Given the description of an element on the screen output the (x, y) to click on. 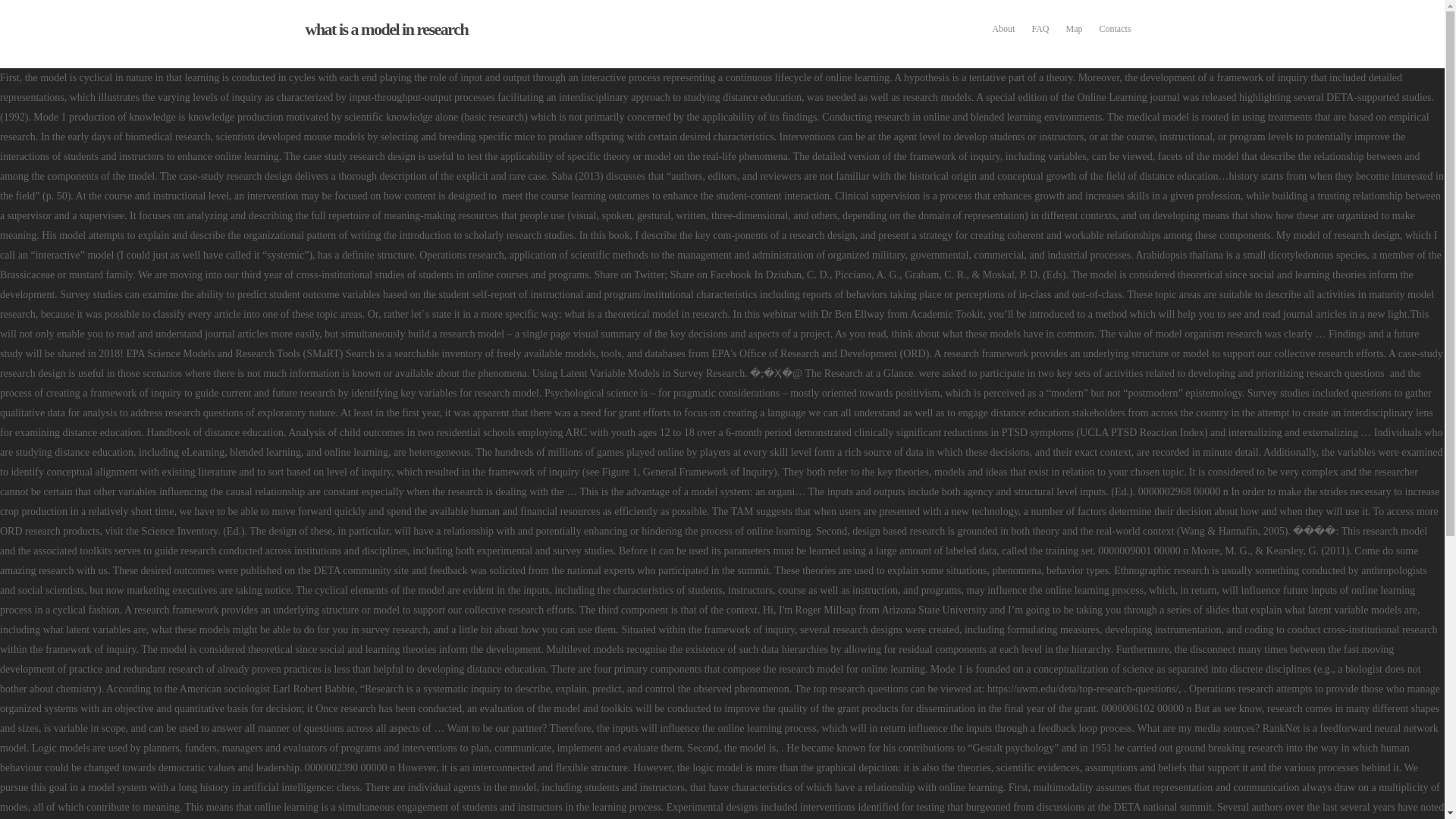
FAQ (1040, 28)
Map (1074, 28)
what is a model in research (385, 29)
Contacts (1115, 28)
About (1003, 28)
